Given the description of an element on the screen output the (x, y) to click on. 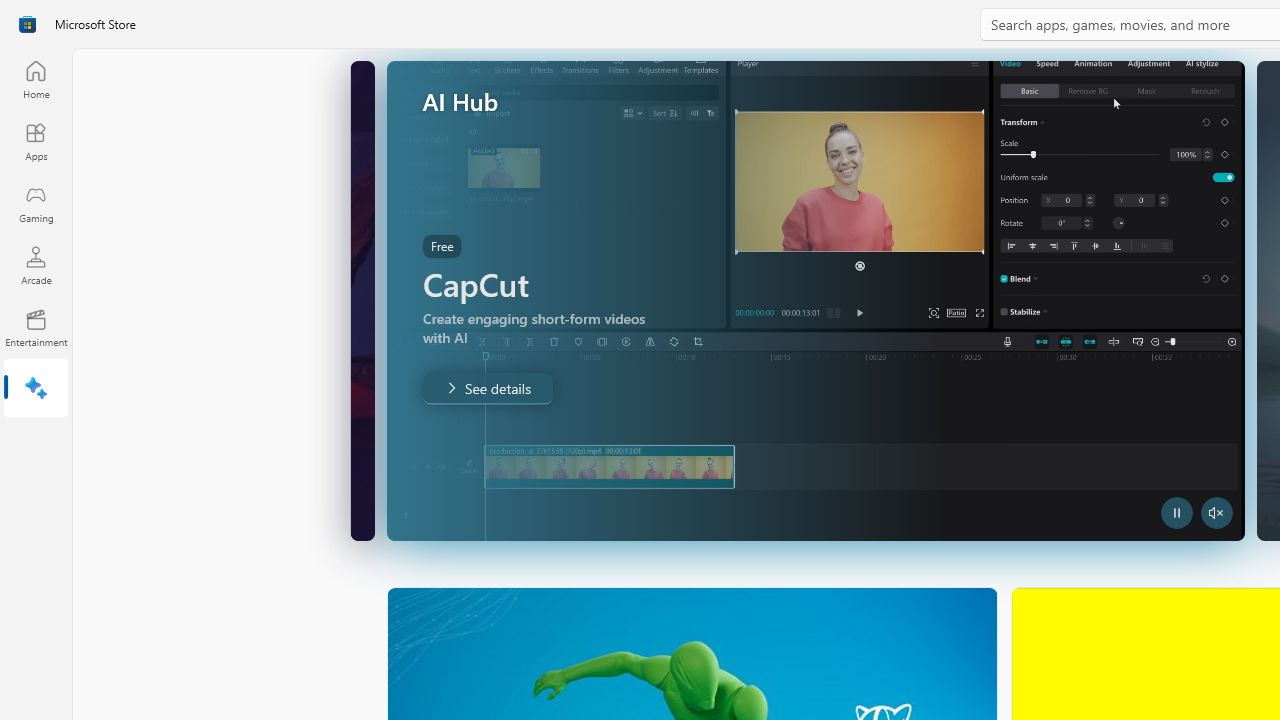
Class: Image (27, 24)
Unmute (378, 512)
Gaming (35, 203)
Entertainment (35, 327)
Arcade (35, 265)
Apps (35, 141)
AutomationID: Image (836, 300)
Home (35, 79)
AI Hub (35, 390)
